Given the description of an element on the screen output the (x, y) to click on. 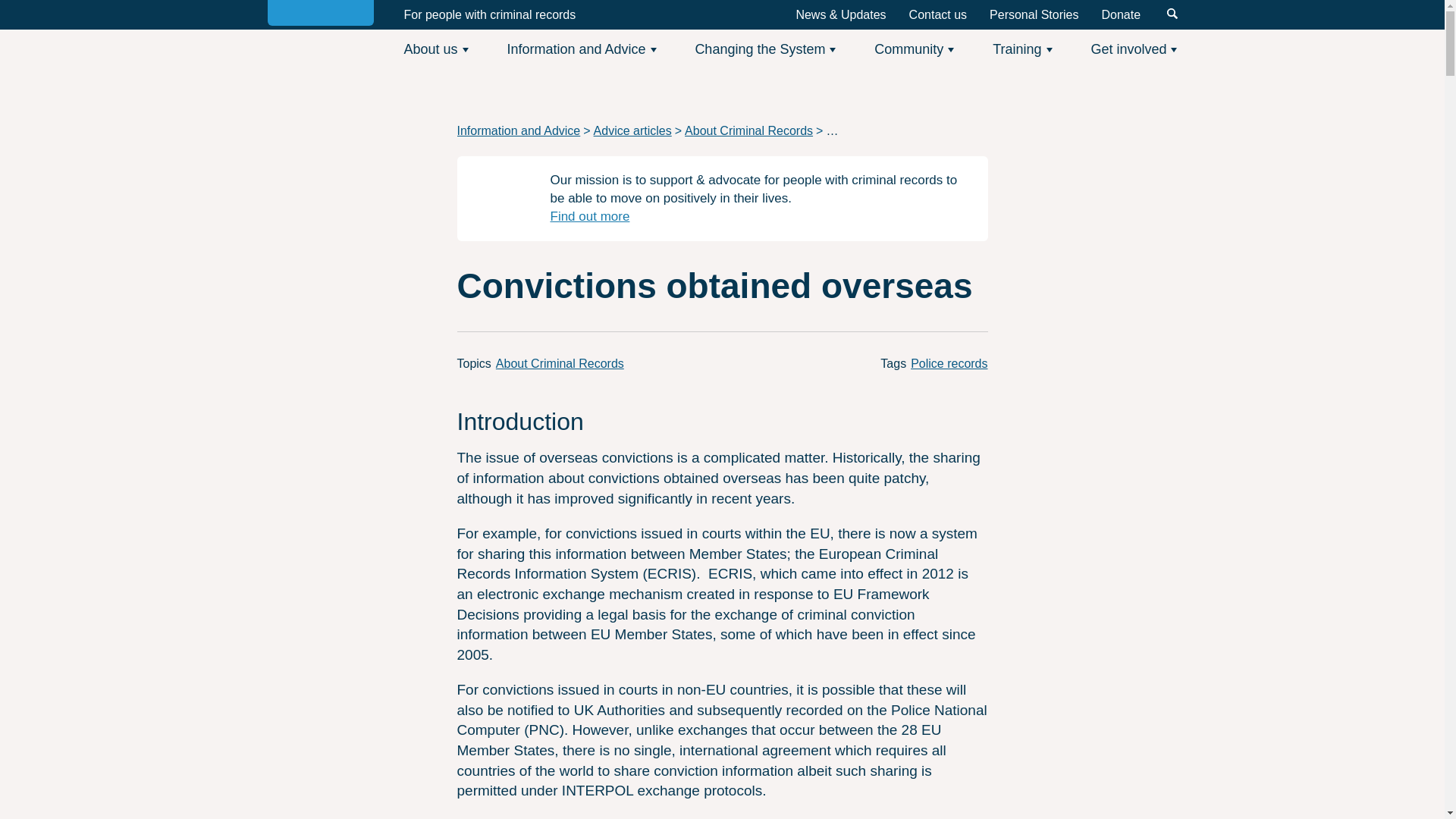
Personal Stories (1034, 14)
Donate (1120, 14)
About us (435, 49)
Contact us (937, 14)
Information and Advice (581, 49)
Changing the System (764, 49)
